Given the description of an element on the screen output the (x, y) to click on. 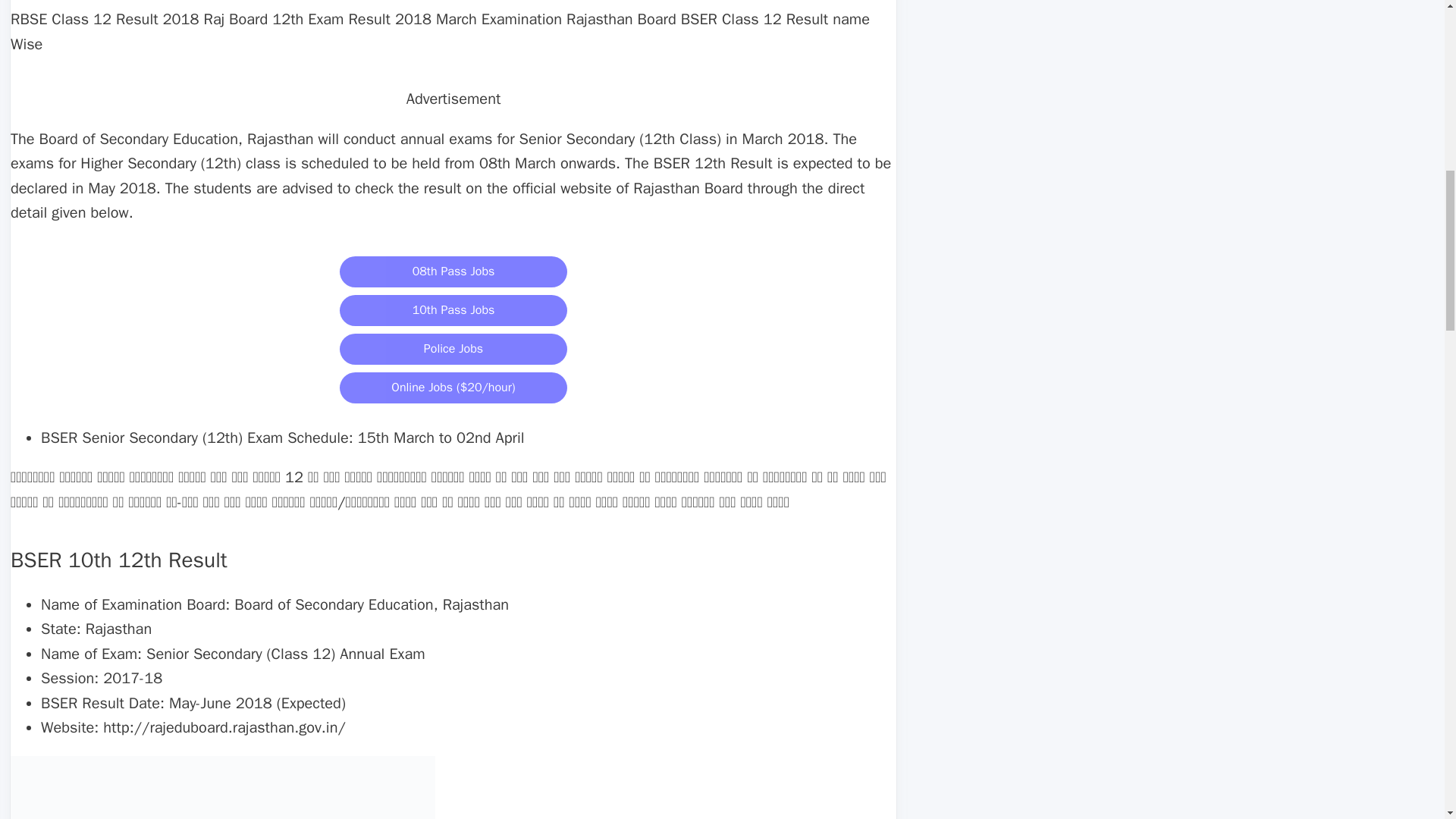
08th Pass Jobs (453, 270)
10th Pass Jobs (453, 309)
10th Pass Jobs (453, 308)
08th Pass Jobs (453, 271)
Police Jobs (453, 347)
Police Jobs (453, 348)
RBSE Class 12 Result (222, 787)
